Given the description of an element on the screen output the (x, y) to click on. 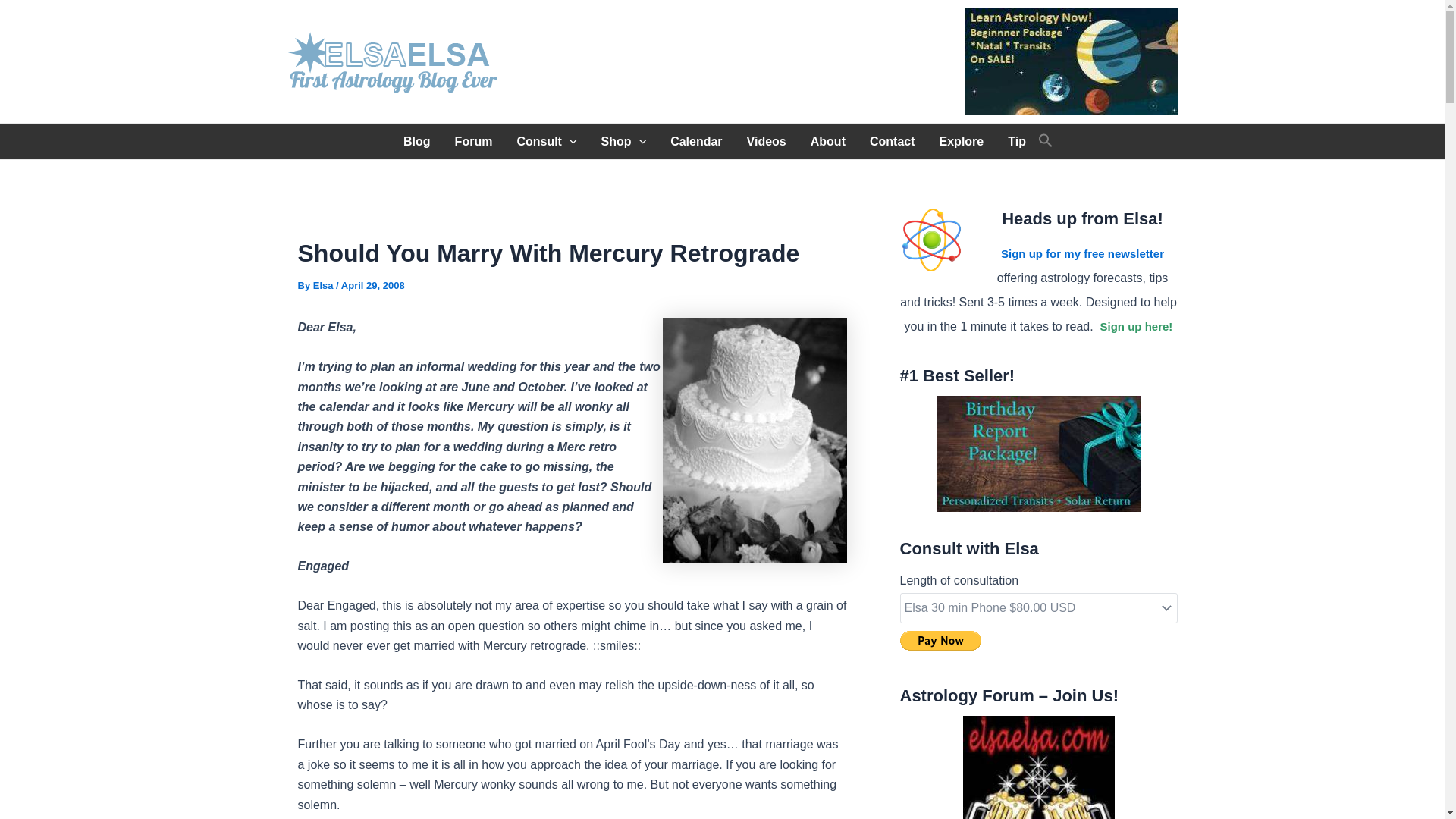
Contact (892, 140)
Consult (545, 140)
Explore (961, 140)
Tip (1016, 140)
Shop (624, 140)
Videos (766, 140)
View all posts by Elsa (324, 285)
Calendar (695, 140)
Elsa (324, 285)
Blog (416, 140)
